Given the description of an element on the screen output the (x, y) to click on. 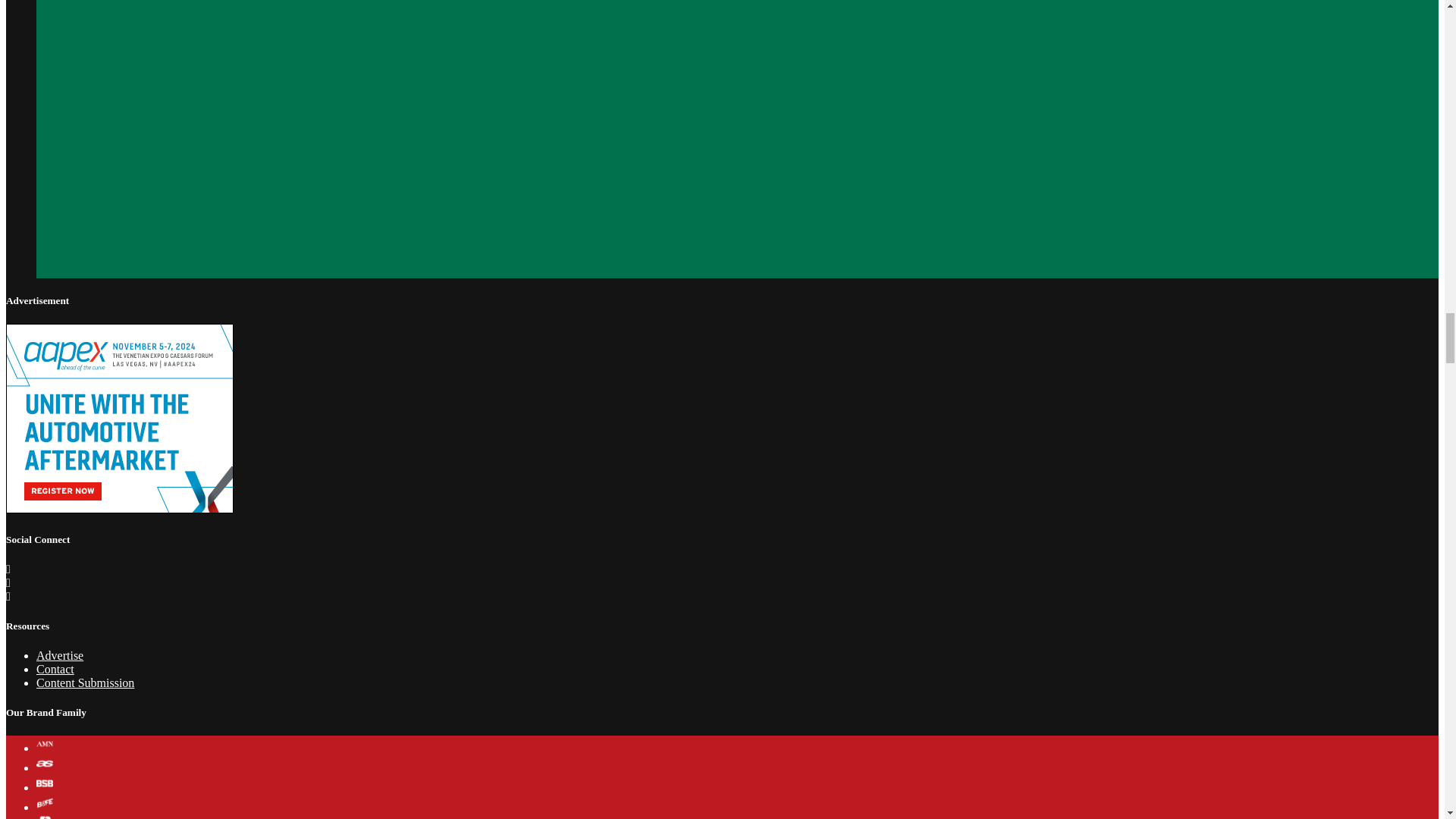
Content Submission (84, 682)
Advertise (59, 655)
Contact (55, 668)
